Given the description of an element on the screen output the (x, y) to click on. 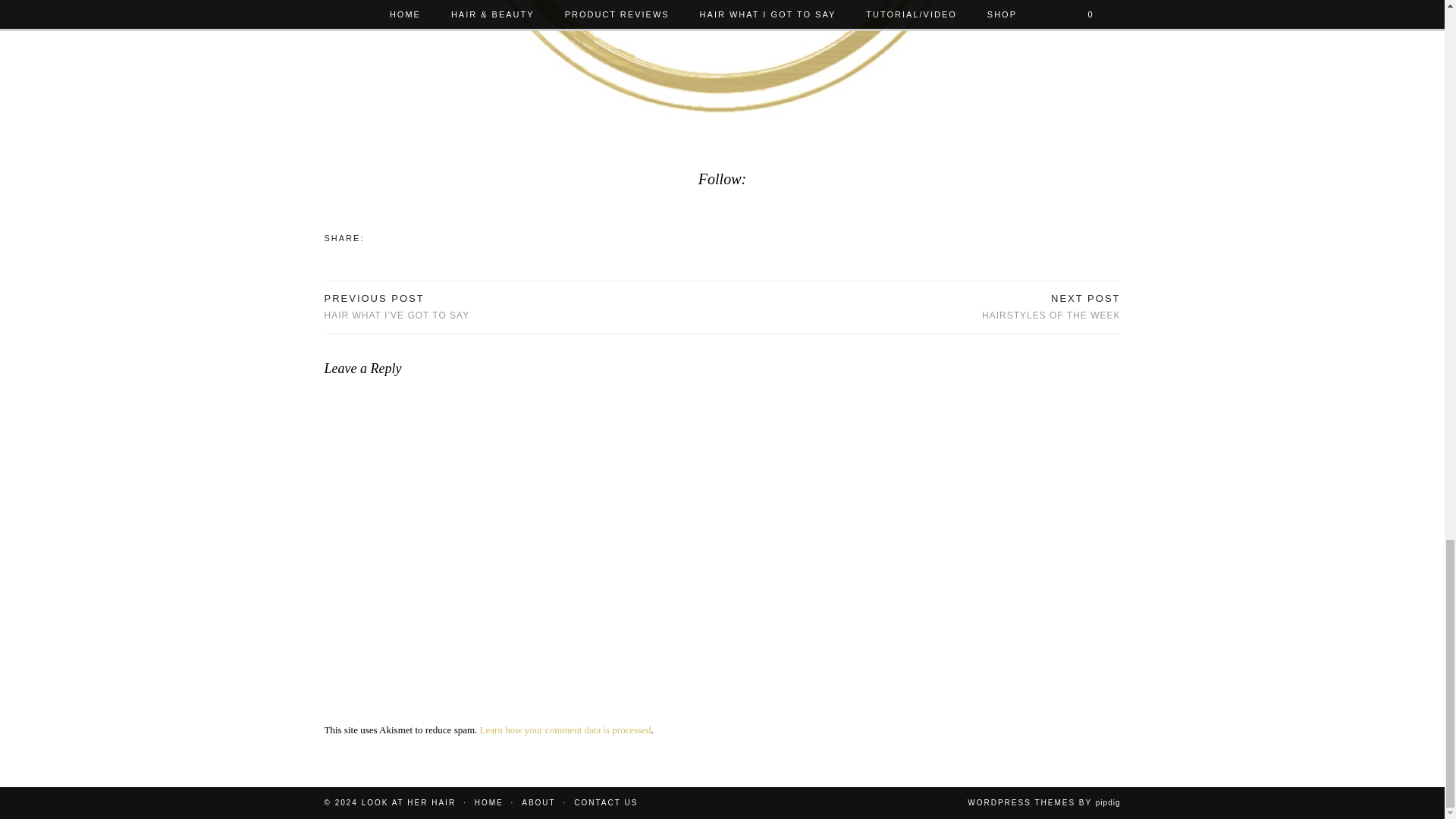
LOOK AT HER HAIR (408, 802)
CONTACT US (1050, 307)
Learn how your comment data is processed (605, 802)
HOME (565, 729)
WORDPRESS THEMES BY pipdig (488, 802)
ABOUT (1043, 802)
